Given the description of an element on the screen output the (x, y) to click on. 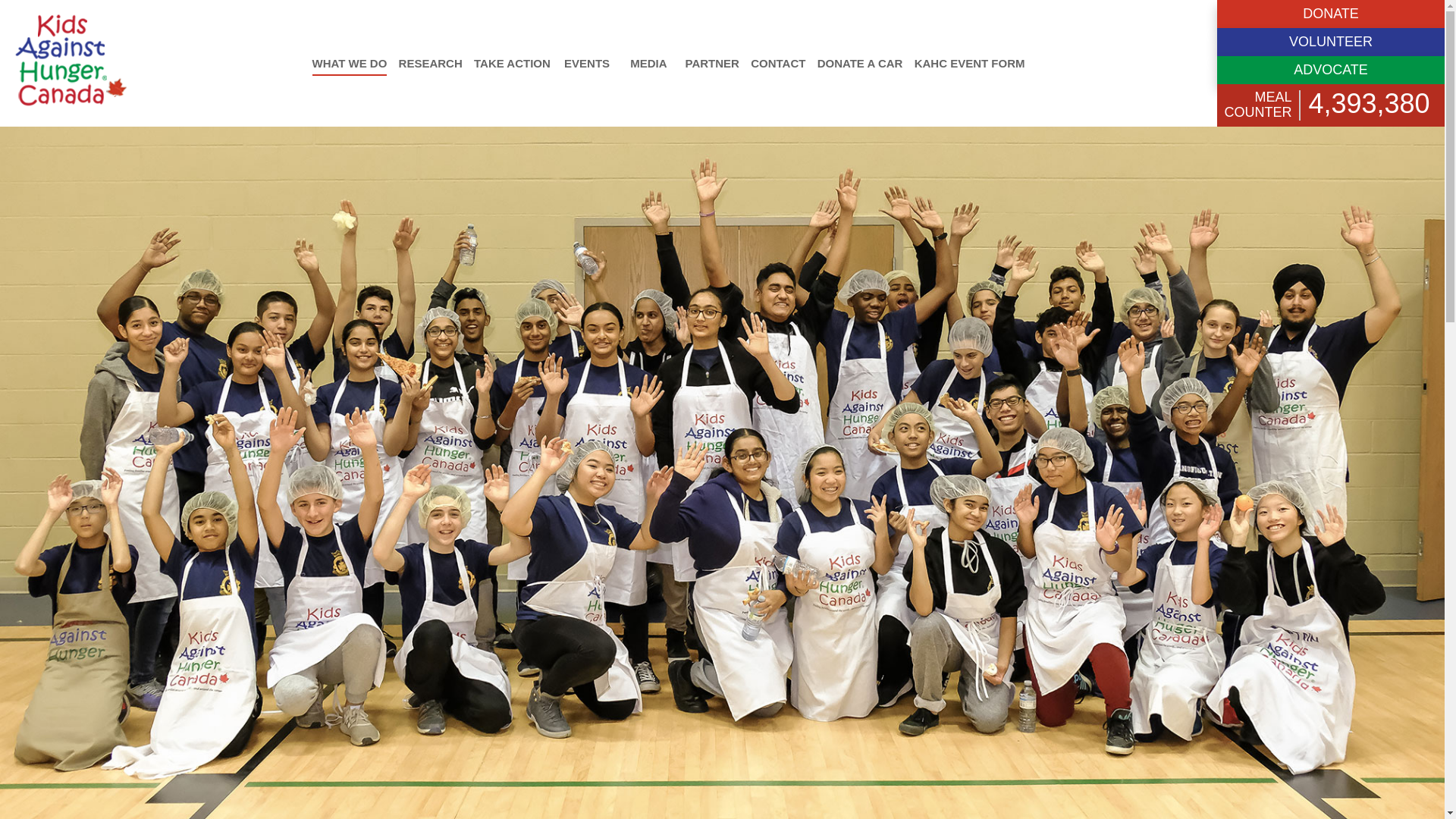
What We Do (350, 62)
KAHC EVENT FORM (969, 62)
DONATE A CAR (859, 62)
Media (647, 62)
Research (430, 62)
PARTNER (712, 62)
KAHC Event Form (969, 62)
Partner (712, 62)
MEDIA (647, 62)
Events (586, 62)
Take Action (512, 62)
CONTACT (778, 62)
Contact (778, 62)
RESEARCH (430, 62)
TAKE ACTION (512, 62)
